Given the description of an element on the screen output the (x, y) to click on. 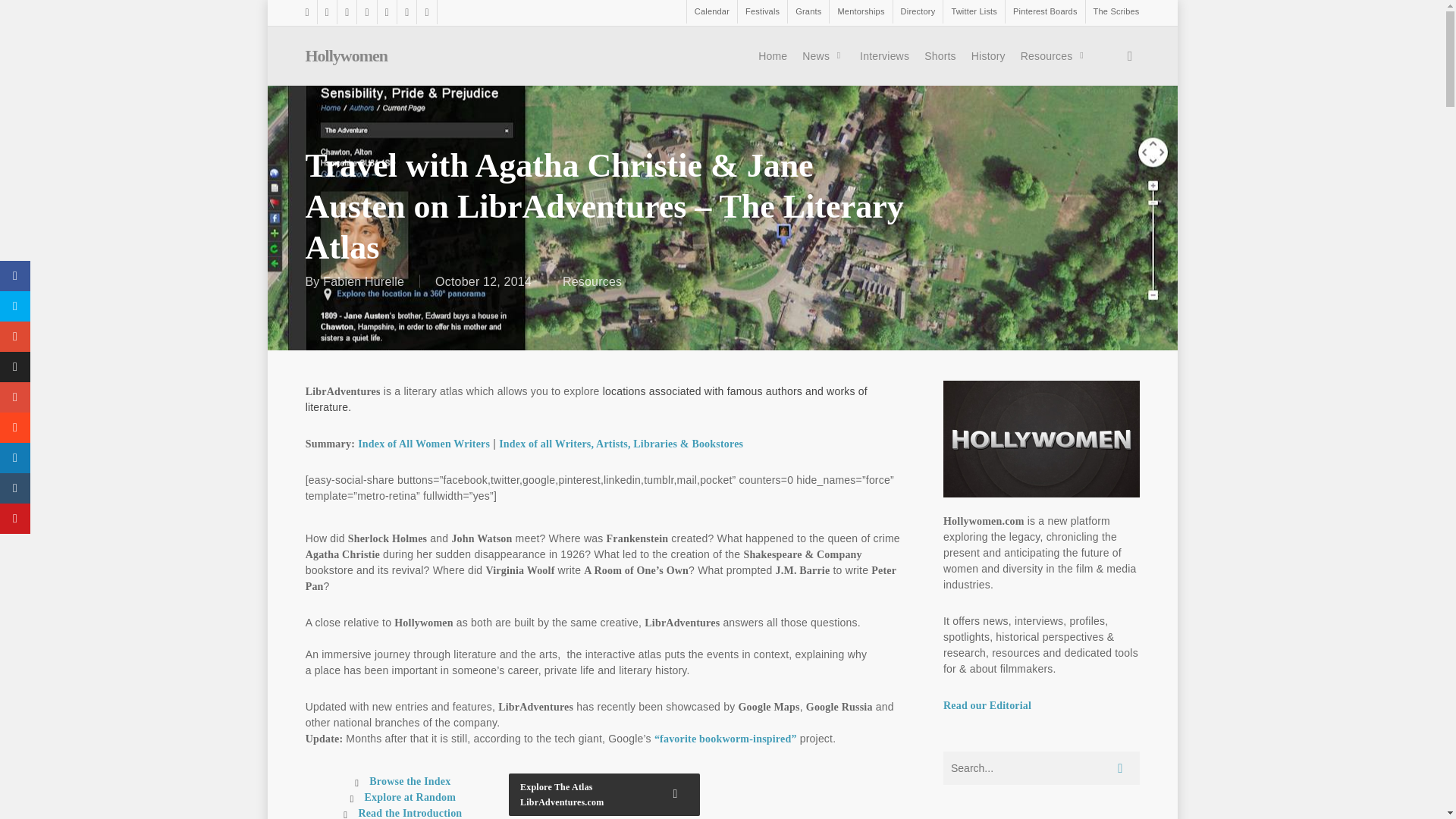
Grants (807, 11)
RSS (386, 12)
Posts by Fabien Hurelle (363, 280)
Home (772, 55)
Resources (1054, 55)
Mentorships (859, 11)
Search for: (1041, 767)
Festivals (761, 11)
The Scribes (1112, 11)
twitter (309, 12)
dribbble (365, 12)
Interviews (884, 55)
stackexchange (425, 12)
facebook (326, 12)
History (988, 55)
